Given the description of an element on the screen output the (x, y) to click on. 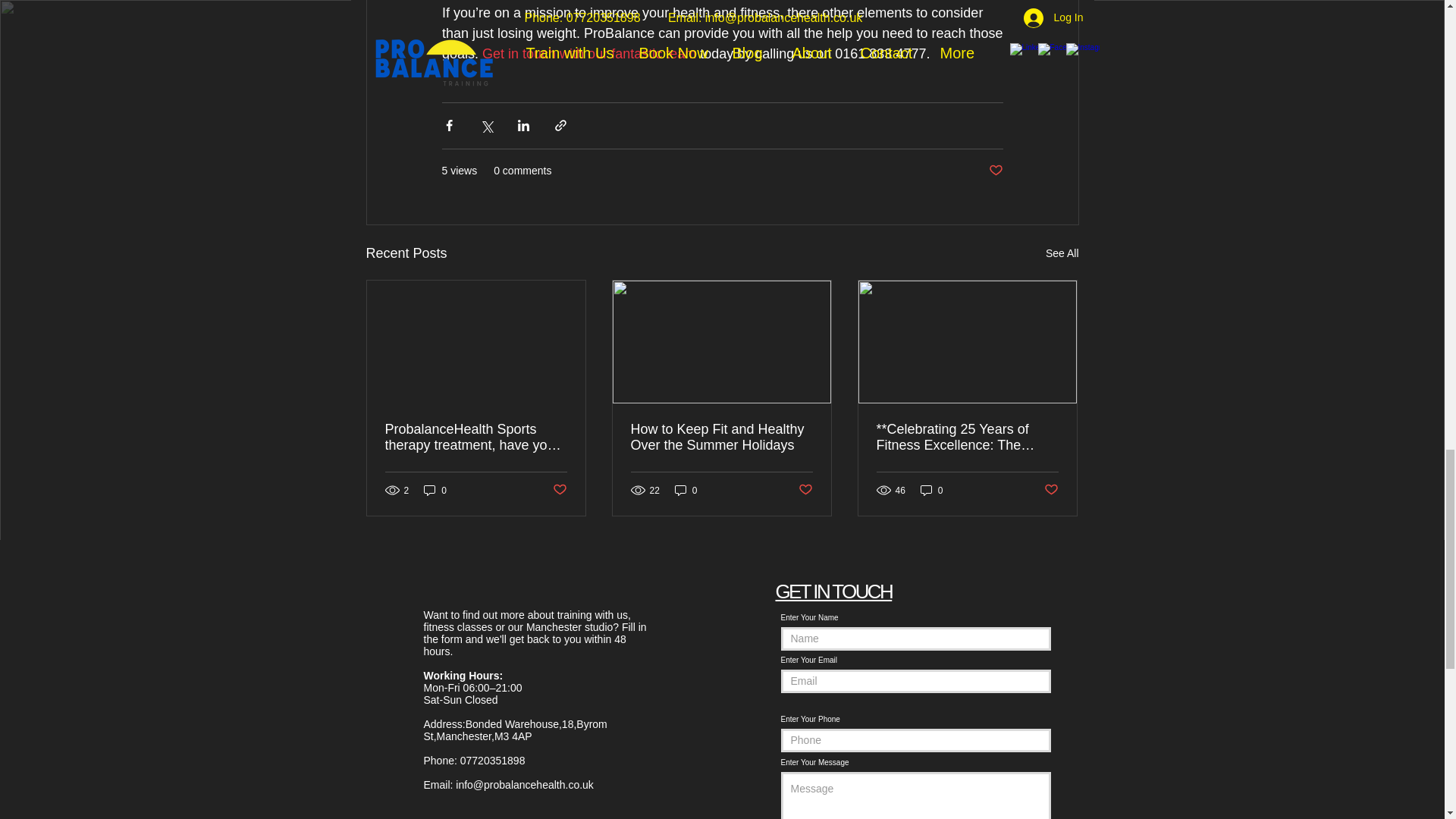
0 (685, 490)
Post not marked as liked (995, 170)
Post not marked as liked (804, 489)
Post not marked as liked (558, 489)
0 (435, 490)
See All (1061, 253)
Get in touch with our fantastic team (588, 53)
How to Keep Fit and Healthy Over the Summer Holidays (721, 437)
